Given the description of an element on the screen output the (x, y) to click on. 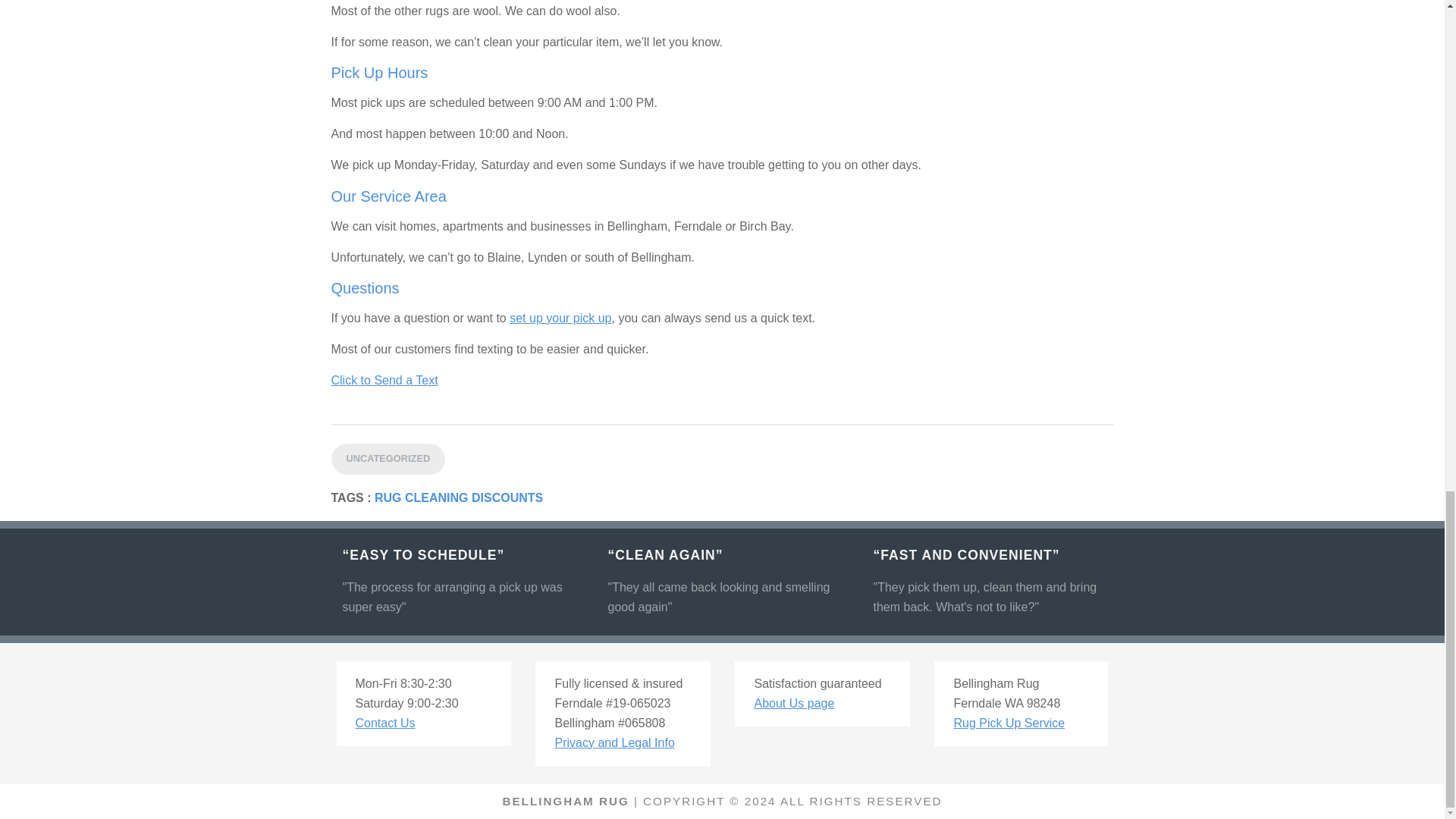
Privacy and Legal Info (614, 742)
About Us page (794, 703)
RUG CLEANING DISCOUNTS (458, 497)
Rug Pick Up Service (1008, 722)
set up your pick up (560, 318)
Click to Send a Text (384, 379)
Contact Us (384, 722)
UNCATEGORIZED (387, 459)
